Given the description of an element on the screen output the (x, y) to click on. 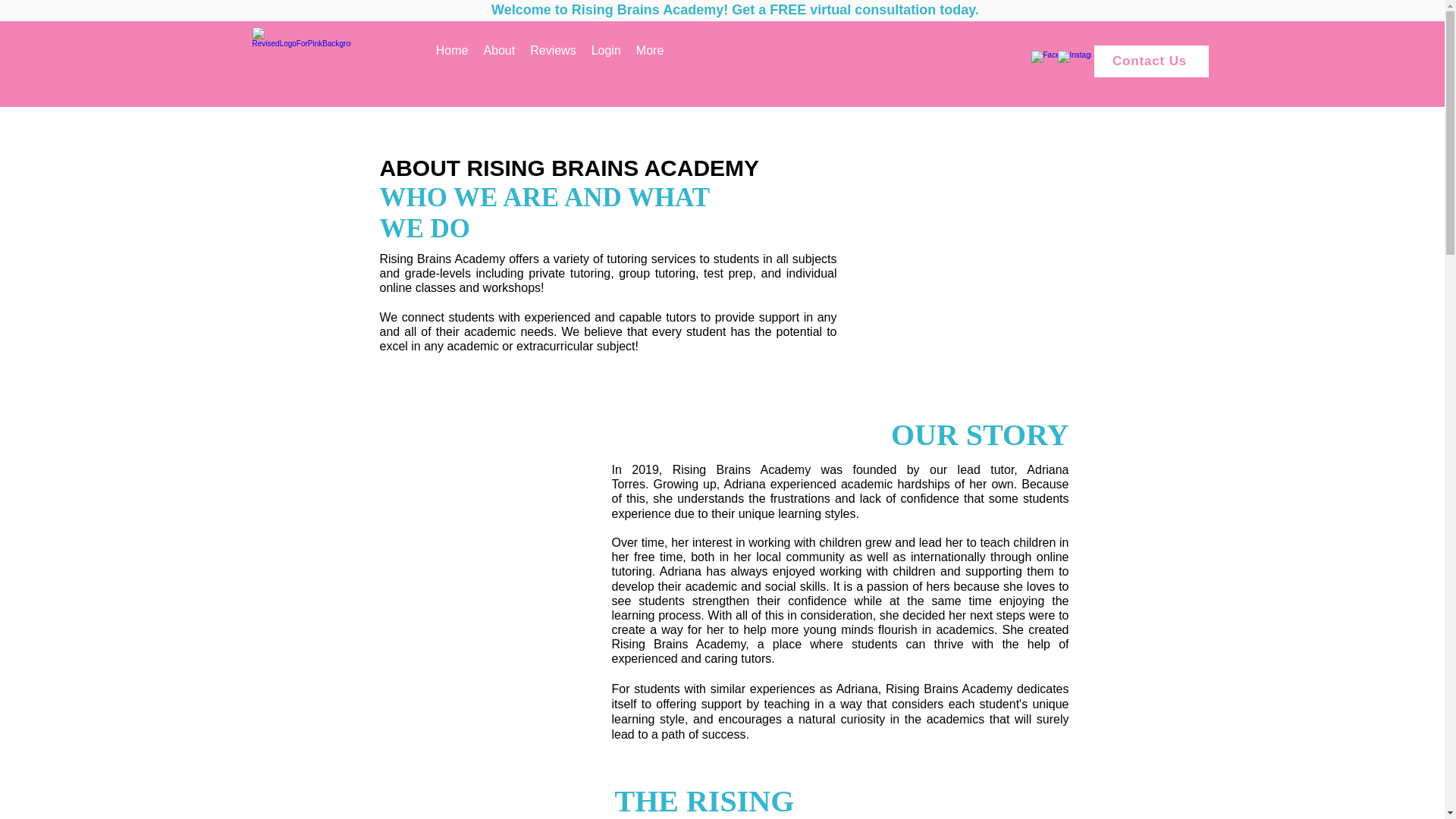
Contact Us (1150, 60)
Login (605, 61)
Home (452, 61)
About (499, 61)
Reviews (552, 61)
